Given the description of an element on the screen output the (x, y) to click on. 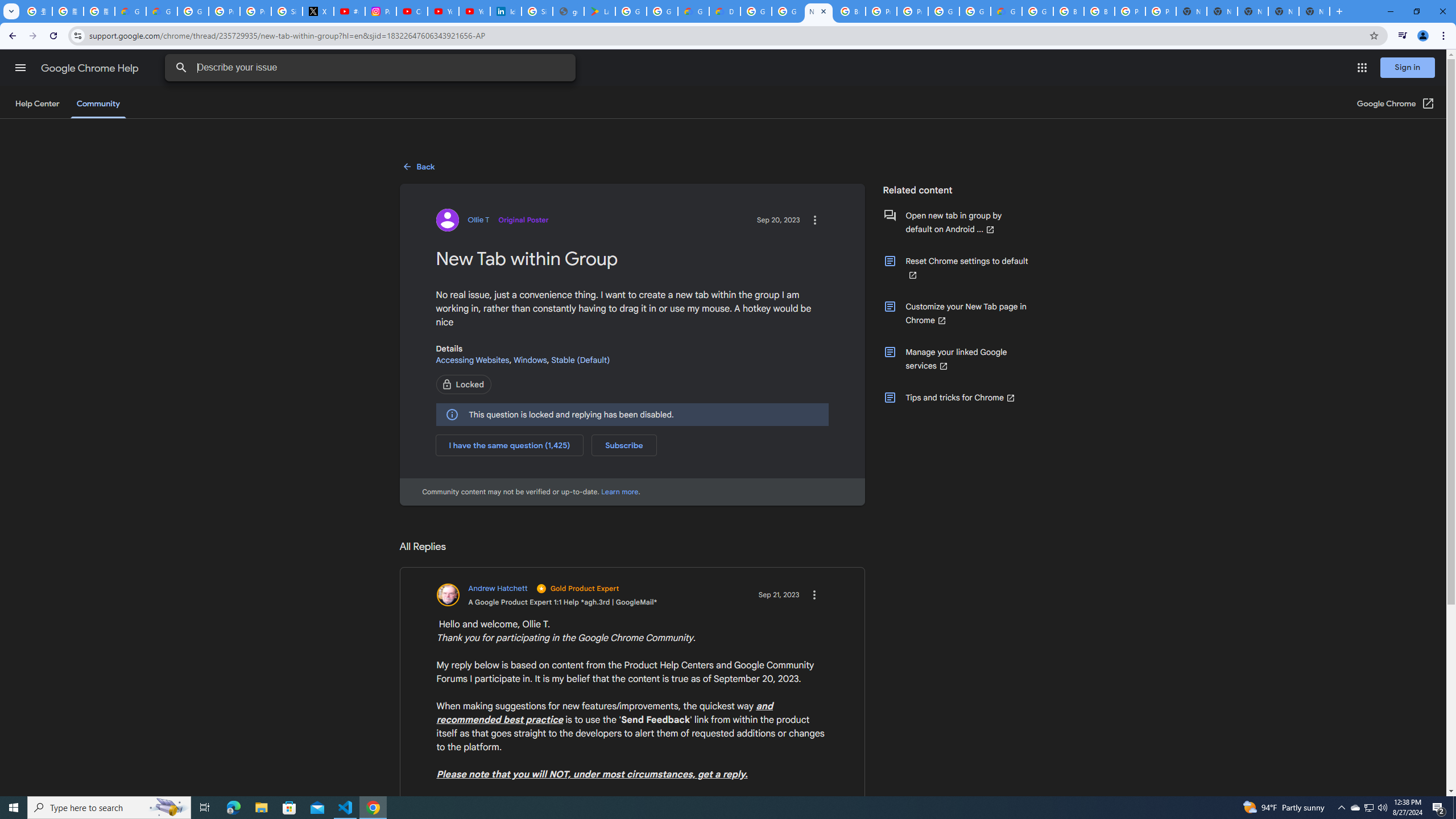
Accessing Websites (472, 359)
Describe your issue (371, 67)
Government | Google Cloud (693, 11)
Google Cloud Estimate Summary (1005, 11)
Last Shelter: Survival - Apps on Google Play (599, 11)
Google Cloud Platform (1037, 11)
Stable (Default) (580, 359)
